Given the description of an element on the screen output the (x, y) to click on. 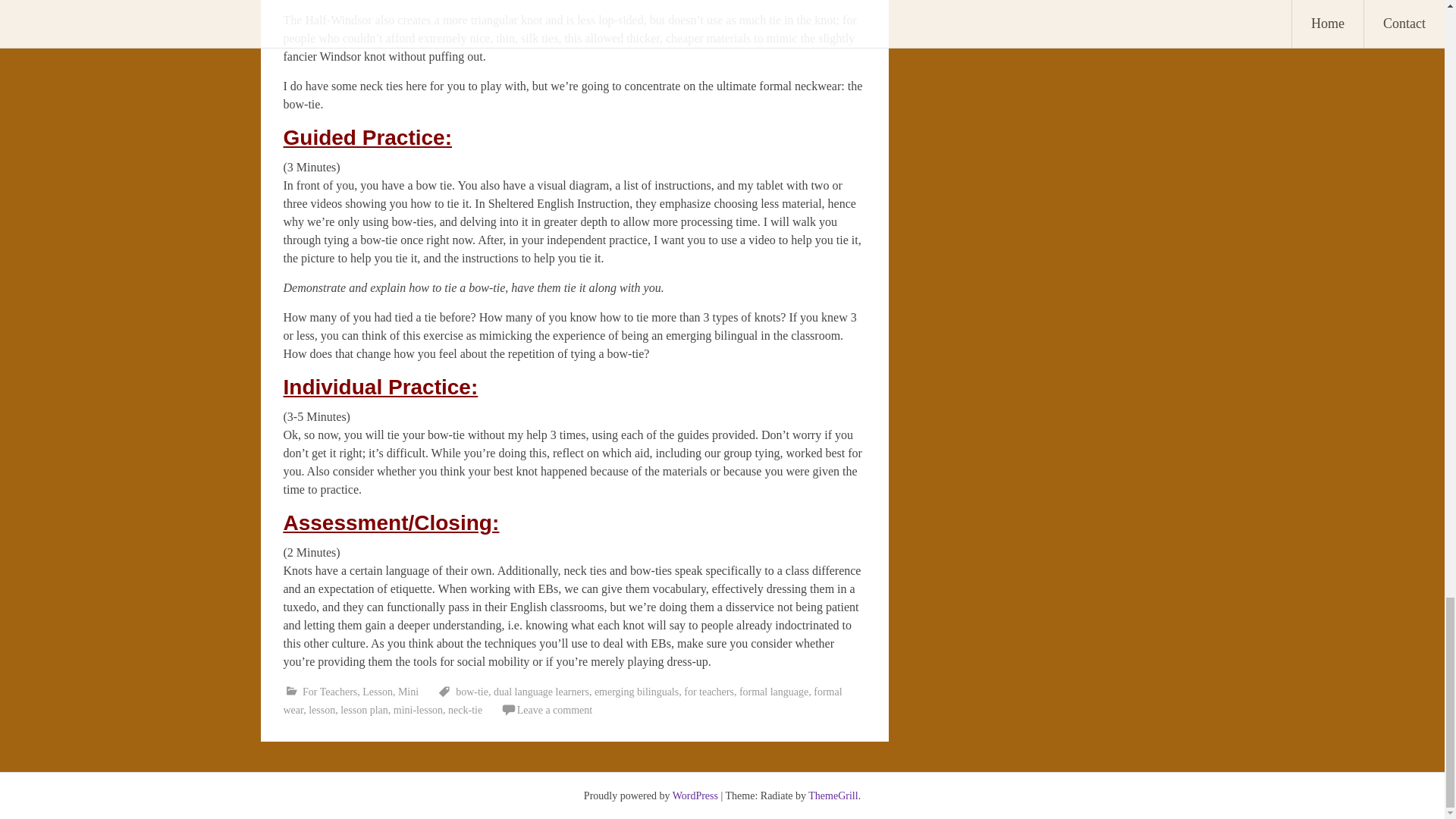
emerging bilinguals (636, 691)
formal language (773, 691)
bow-tie (471, 691)
for teachers (708, 691)
Leave a comment (554, 709)
lesson plan (364, 709)
For Teachers (329, 691)
ThemeGrill (832, 795)
neck-tie (464, 709)
mini-lesson (417, 709)
